Given the description of an element on the screen output the (x, y) to click on. 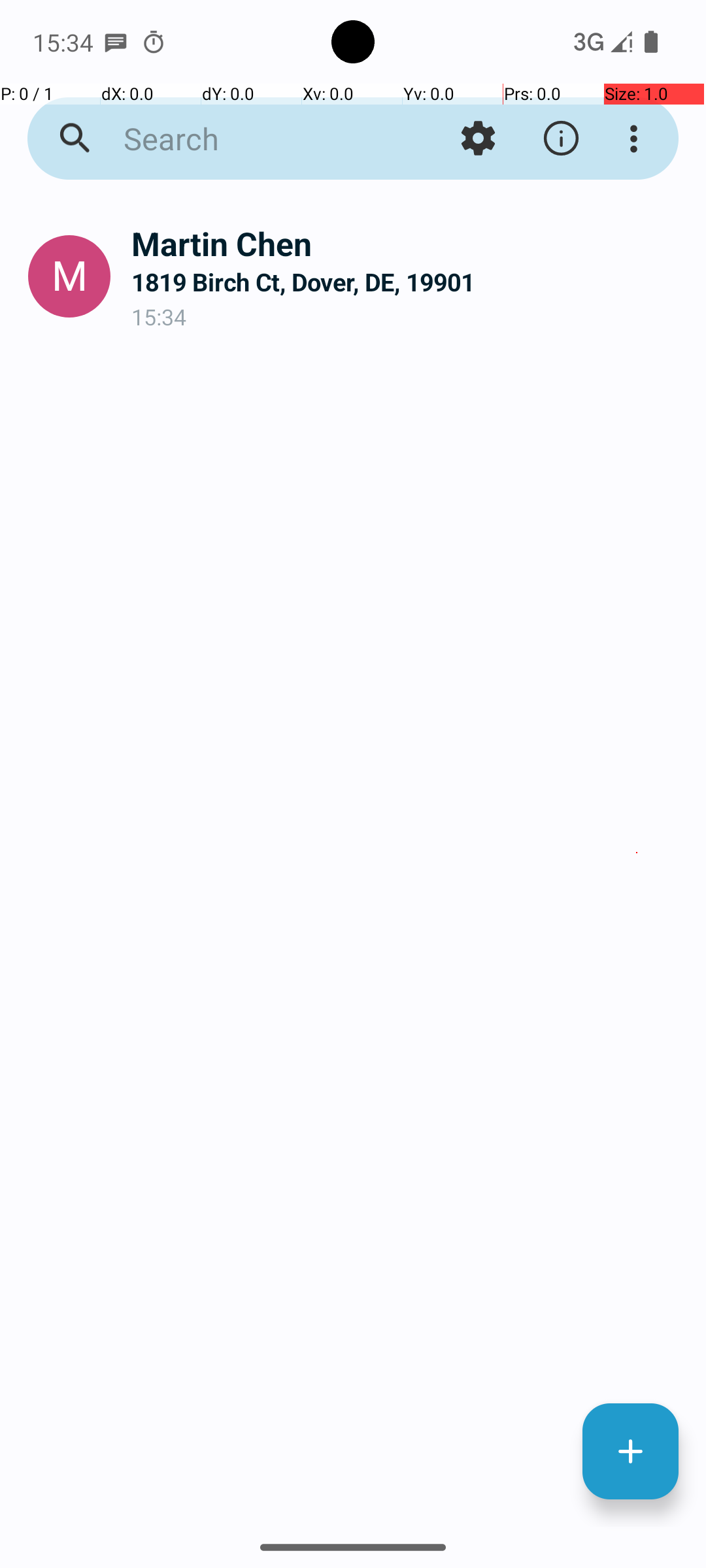
Martin Chen Element type: android.widget.TextView (408, 242)
1819 Birch Ct, Dover, DE, 19901 Element type: android.widget.TextView (408, 281)
